Given the description of an element on the screen output the (x, y) to click on. 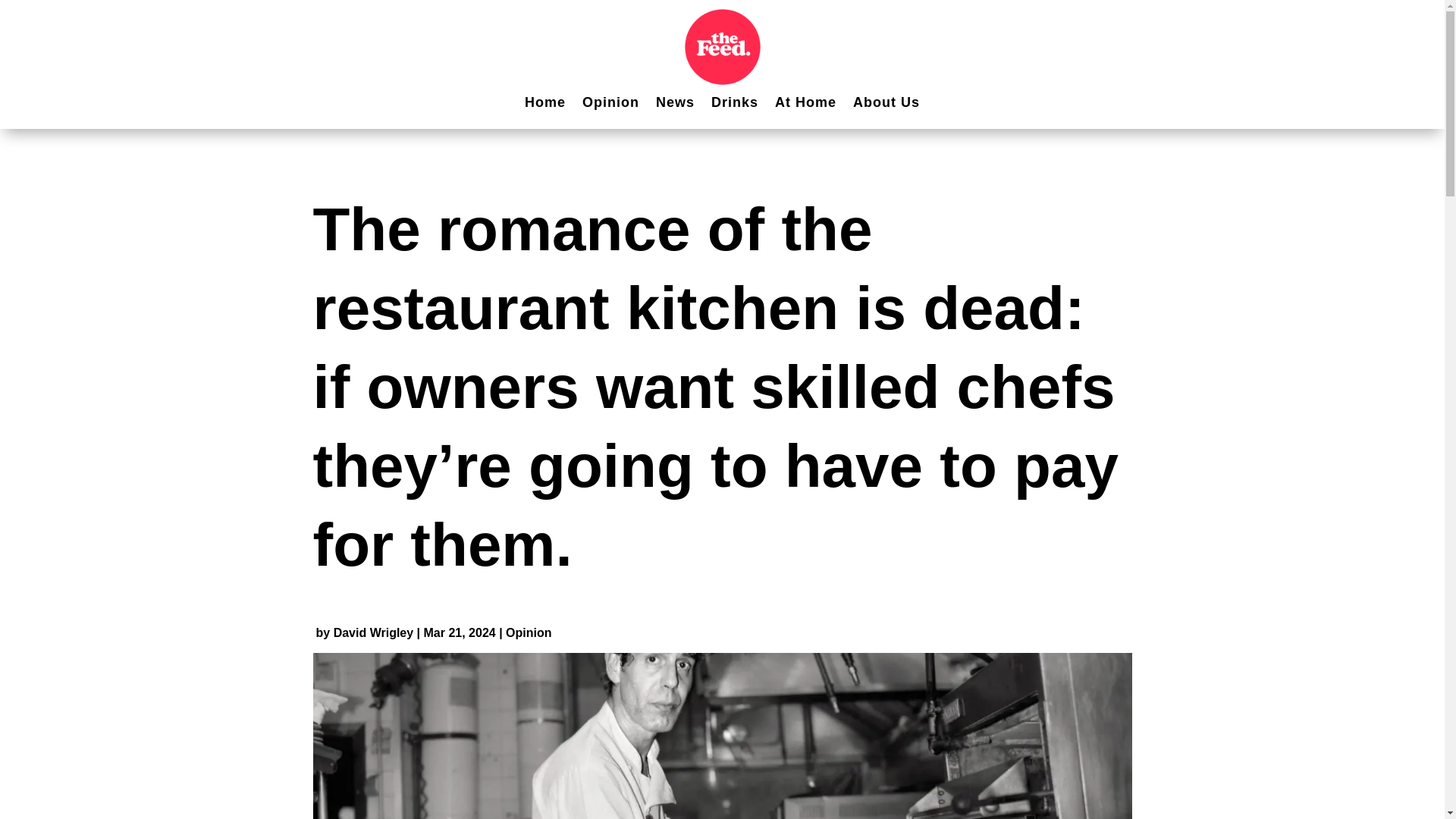
About Us (886, 103)
Drinks (734, 103)
At Home (804, 103)
Home (545, 103)
Posts by David Wrigley (373, 632)
David Wrigley (373, 632)
Opinion (610, 103)
News (675, 103)
Opinion (528, 632)
